Given the description of an element on the screen output the (x, y) to click on. 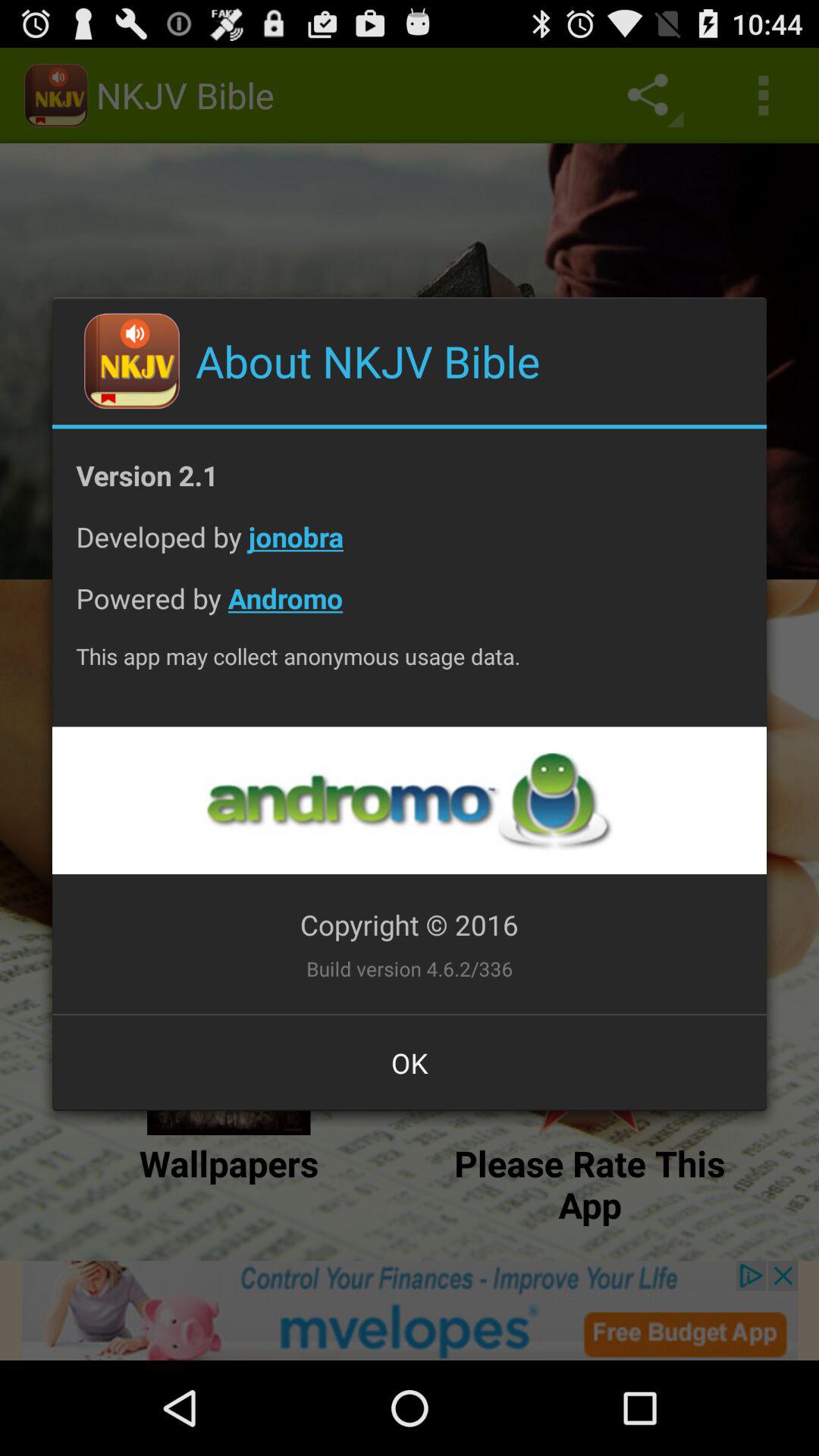
logotype banner (408, 800)
